Given the description of an element on the screen output the (x, y) to click on. 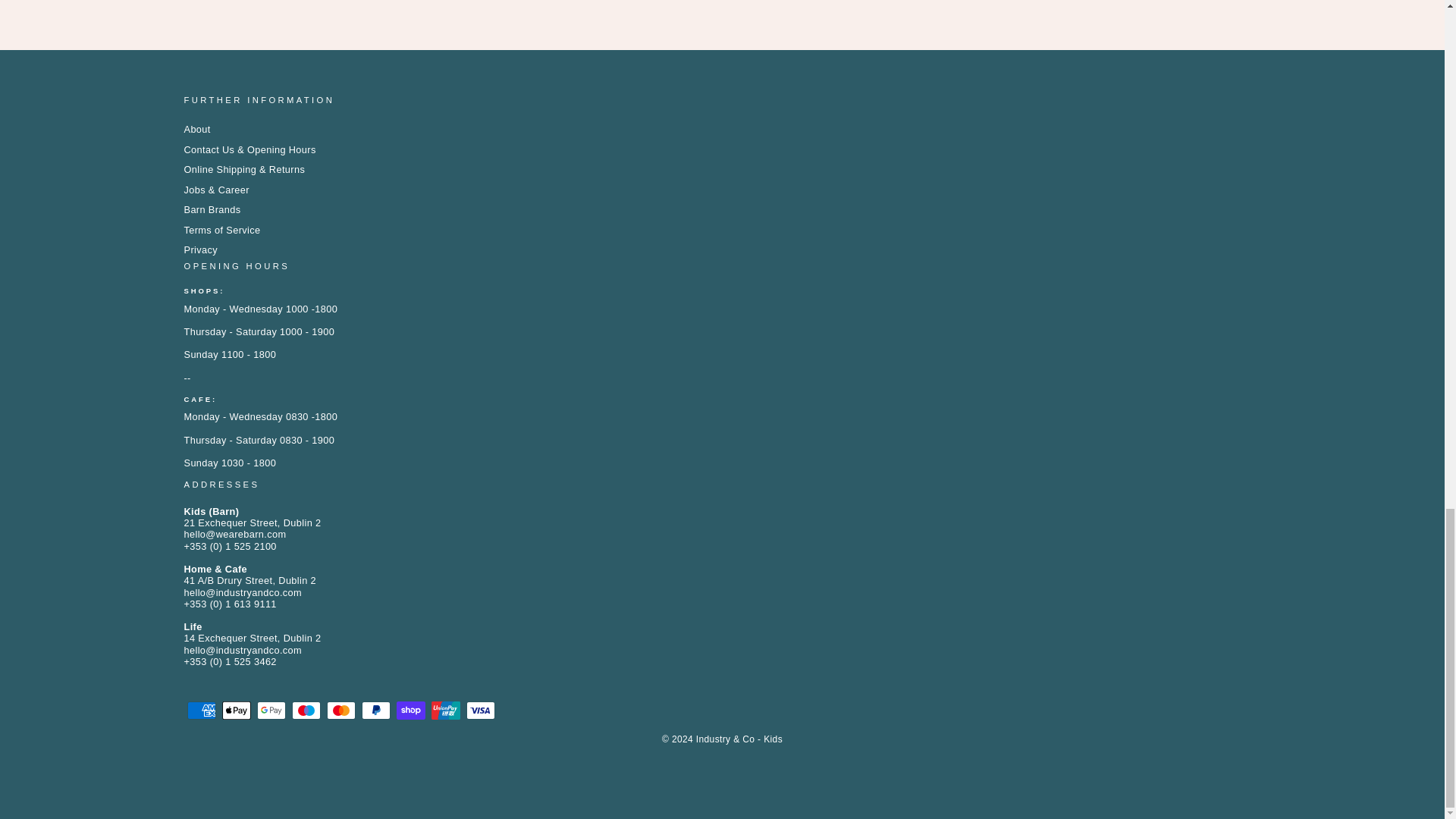
Mastercard (340, 710)
Visa (480, 710)
Shop Pay (410, 710)
Apple Pay (235, 710)
Union Pay (445, 710)
Google Pay (270, 710)
Maestro (305, 710)
American Express (200, 710)
PayPal (375, 710)
